Given the description of an element on the screen output the (x, y) to click on. 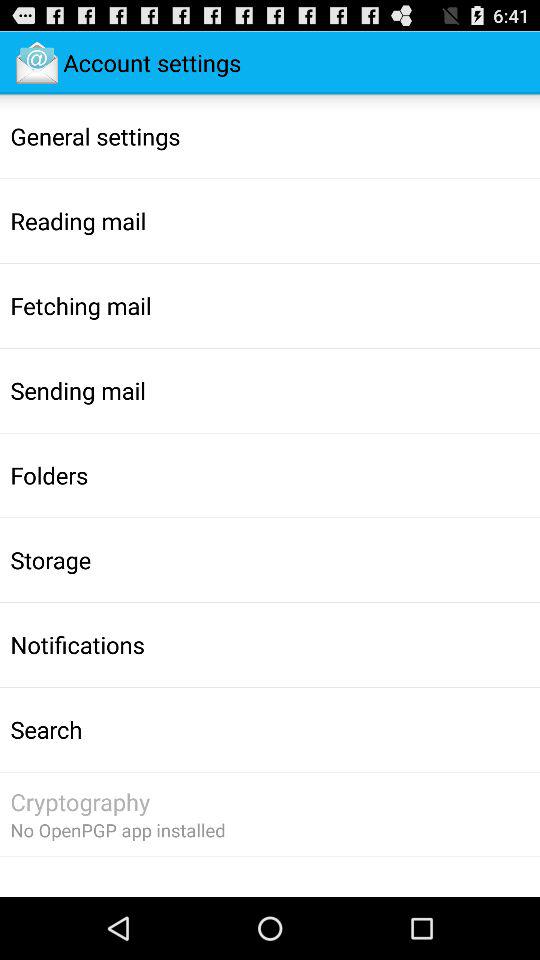
jump until notifications item (77, 644)
